Given the description of an element on the screen output the (x, y) to click on. 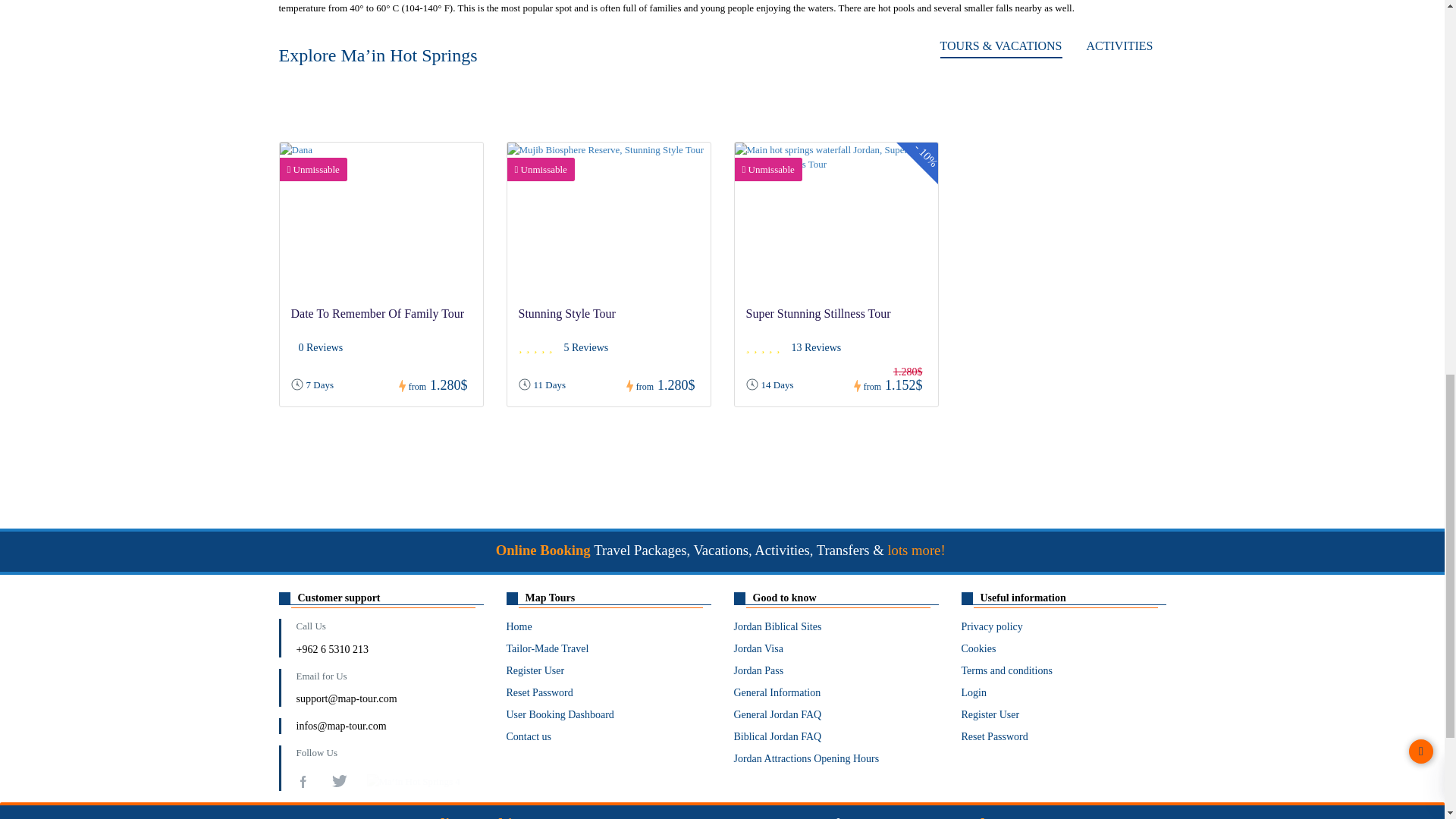
Date To Remember Of Family Tour (377, 313)
Add to wishlist (682, 167)
Stunning Style Tour (566, 313)
Super Stunning Stillness Tour (818, 313)
Add to wishlist (910, 167)
ACTIVITIES (1119, 46)
Add to wishlist (455, 167)
